Given the description of an element on the screen output the (x, y) to click on. 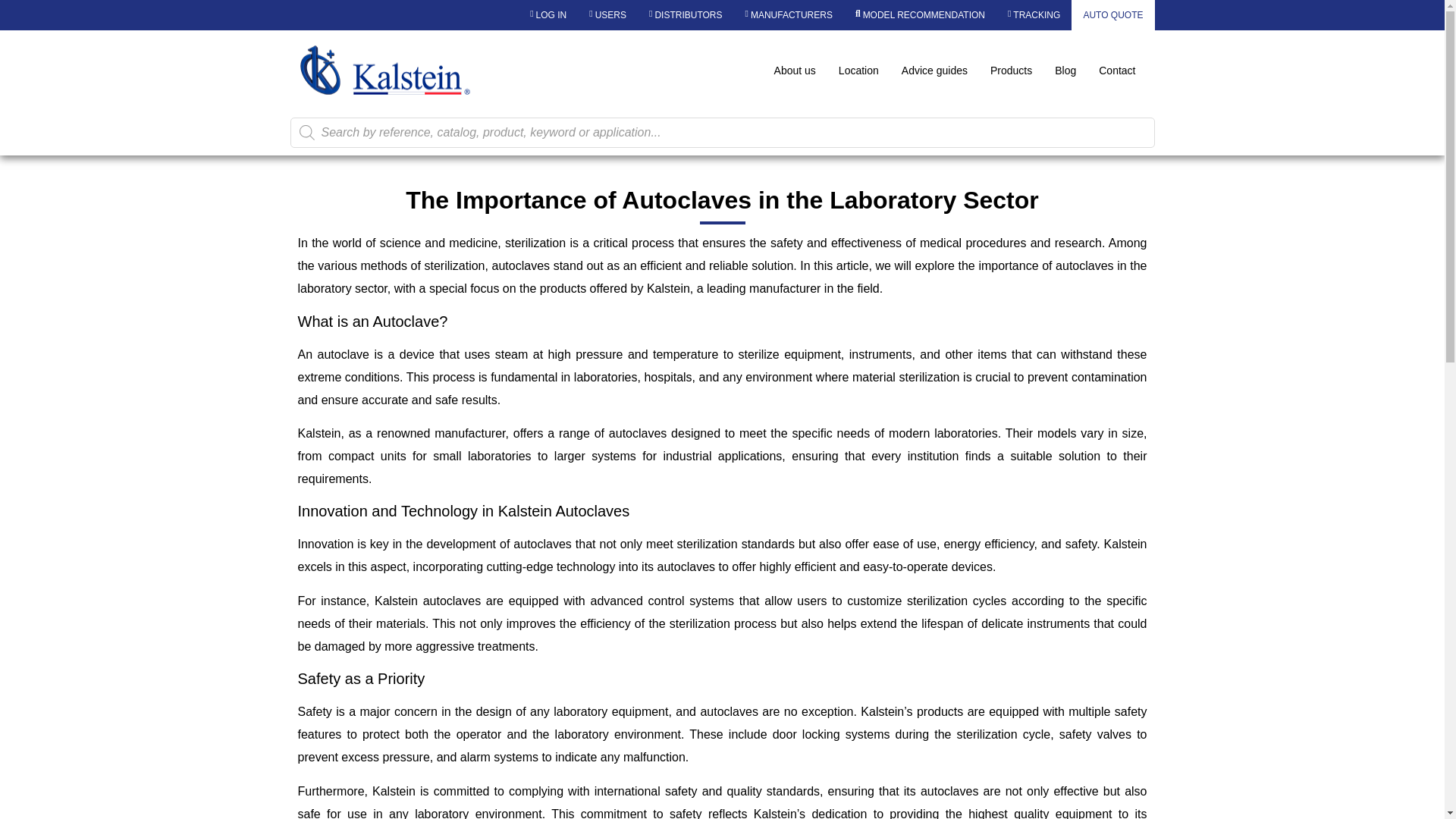
Location (858, 69)
About us (794, 69)
LOG IN (548, 15)
TRACKING (1033, 15)
MODEL RECOMMENDATION (919, 15)
USERS (607, 15)
DISTRIBUTORS (685, 15)
MANUFACTURERS (788, 15)
AUTO QUOTE (1112, 15)
Advice guides (933, 69)
